Given the description of an element on the screen output the (x, y) to click on. 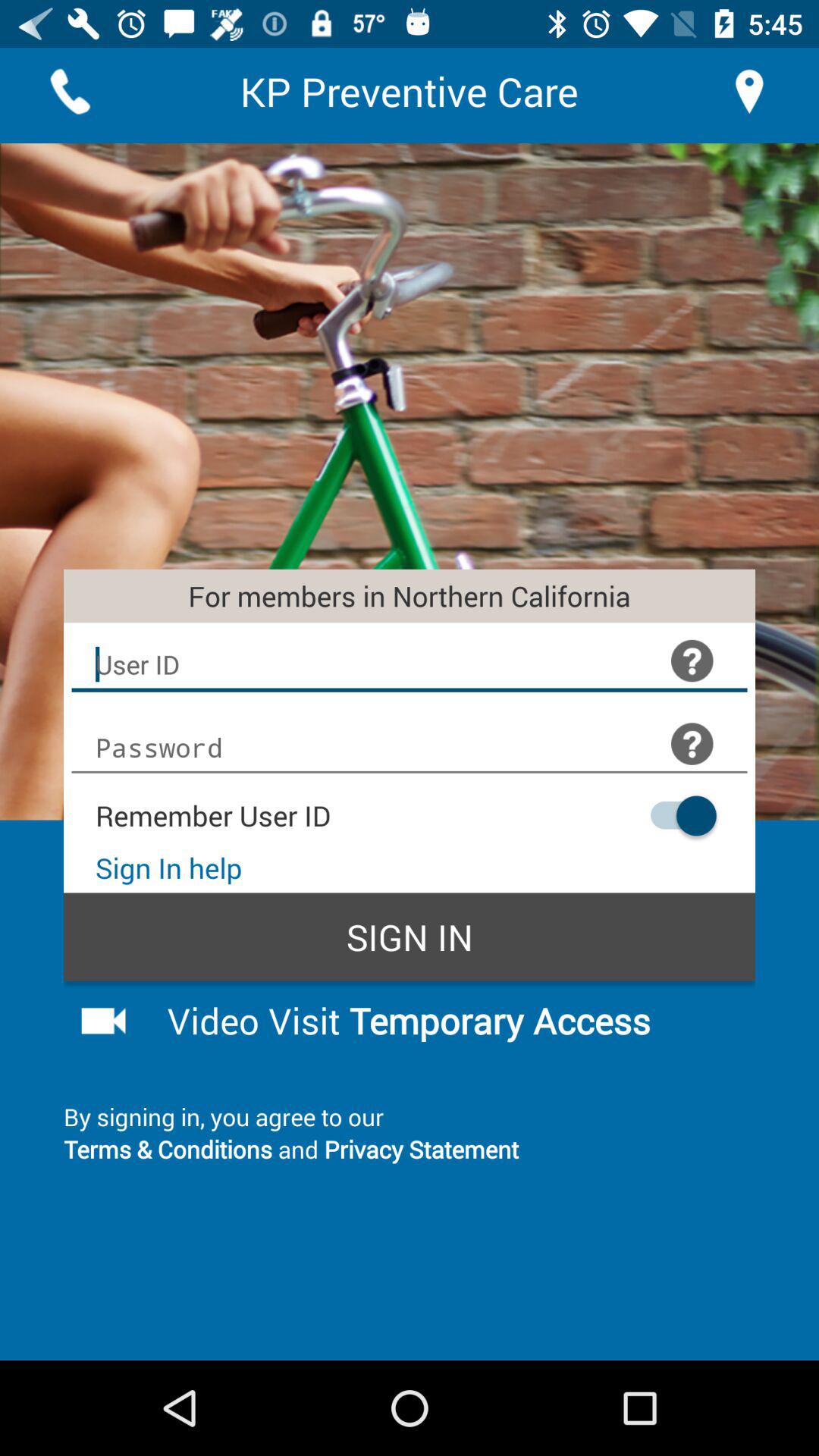
select button below sign in item (449, 1020)
